Given the description of an element on the screen output the (x, y) to click on. 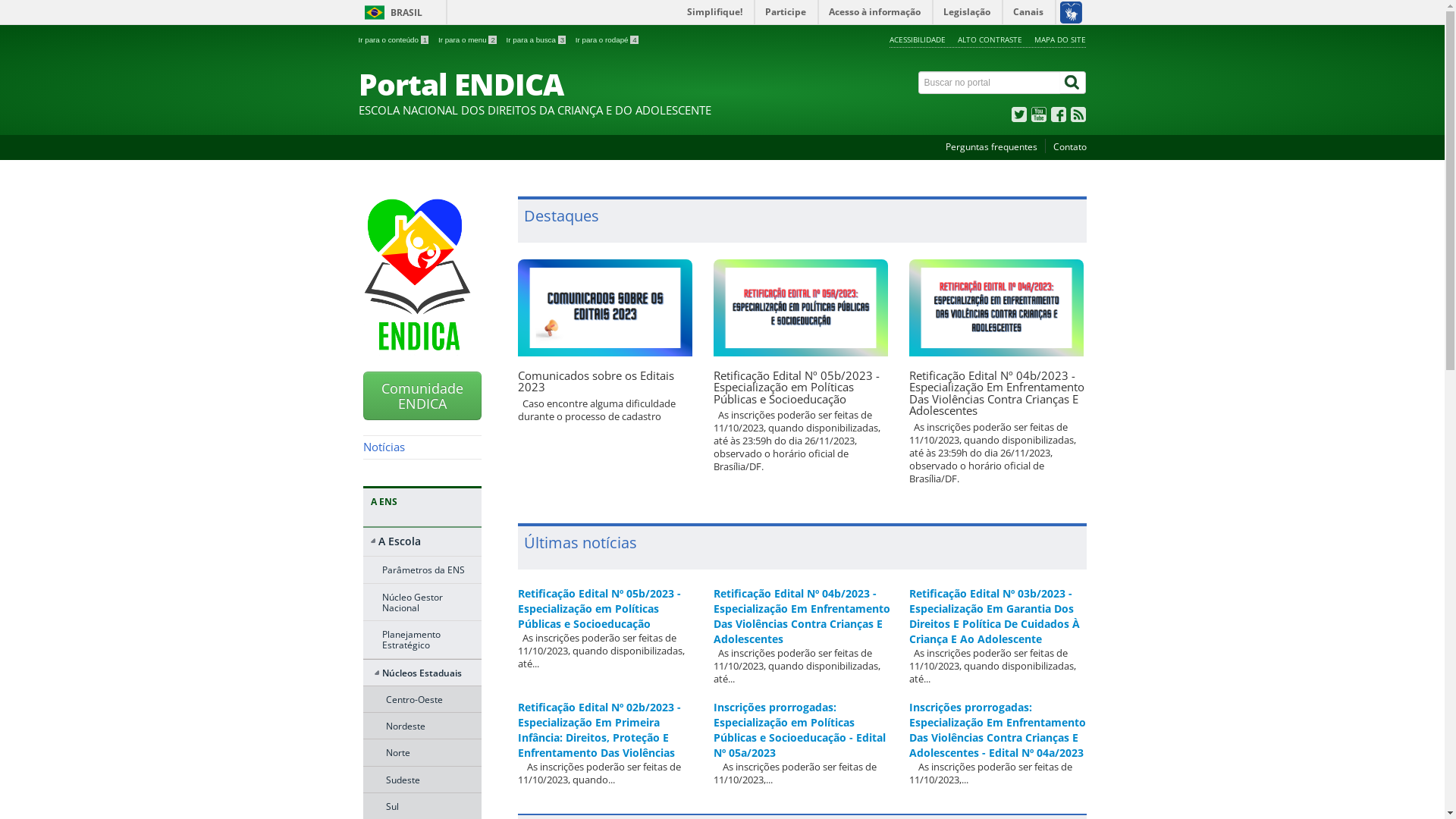
Buscar no portal Element type: hover (989, 82)
Perguntas frequentes Element type: text (990, 146)
Centro-Oeste Element type: text (418, 699)
Ir para o menu 2 Element type: text (468, 39)
Comunicados sobre os Editais 2023 Element type: text (595, 381)
Contato Element type: text (1068, 146)
Sul Element type: text (418, 806)
Norte Element type: text (418, 752)
ACESSIBILIDADE Element type: text (917, 39)
Comunidade ENDICA Element type: text (422, 395)
Sudeste Element type: text (418, 779)
Nordeste Element type: text (418, 725)
ALTO CONTRASTE Element type: text (989, 39)
Ir para a busca 3 Element type: text (536, 39)
MAPA DO SITE Element type: text (1059, 39)
A Escola Element type: text (422, 543)
BRASIL Element type: text (389, 12)
